Given the description of an element on the screen output the (x, y) to click on. 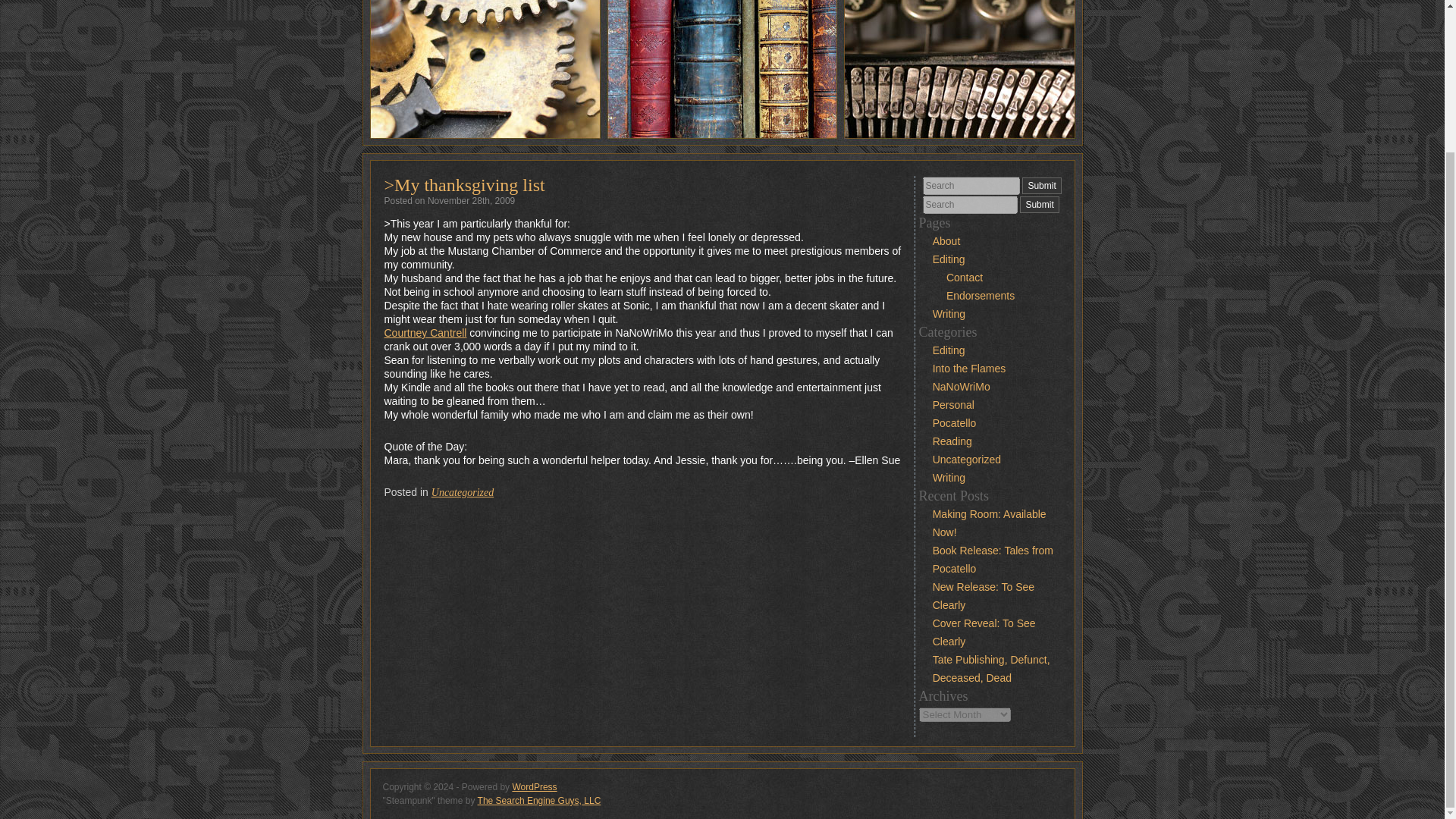
Submit (1041, 185)
The Search Engine Guys, LLC (539, 800)
About (946, 241)
Tate Publishing, Defunct, Deceased, Dead (991, 668)
Personal (953, 404)
Endorsements (980, 295)
The Search Engine Guys, LLC (539, 800)
Pocatello (954, 422)
Writing (949, 313)
Editing (949, 259)
